Given the description of an element on the screen output the (x, y) to click on. 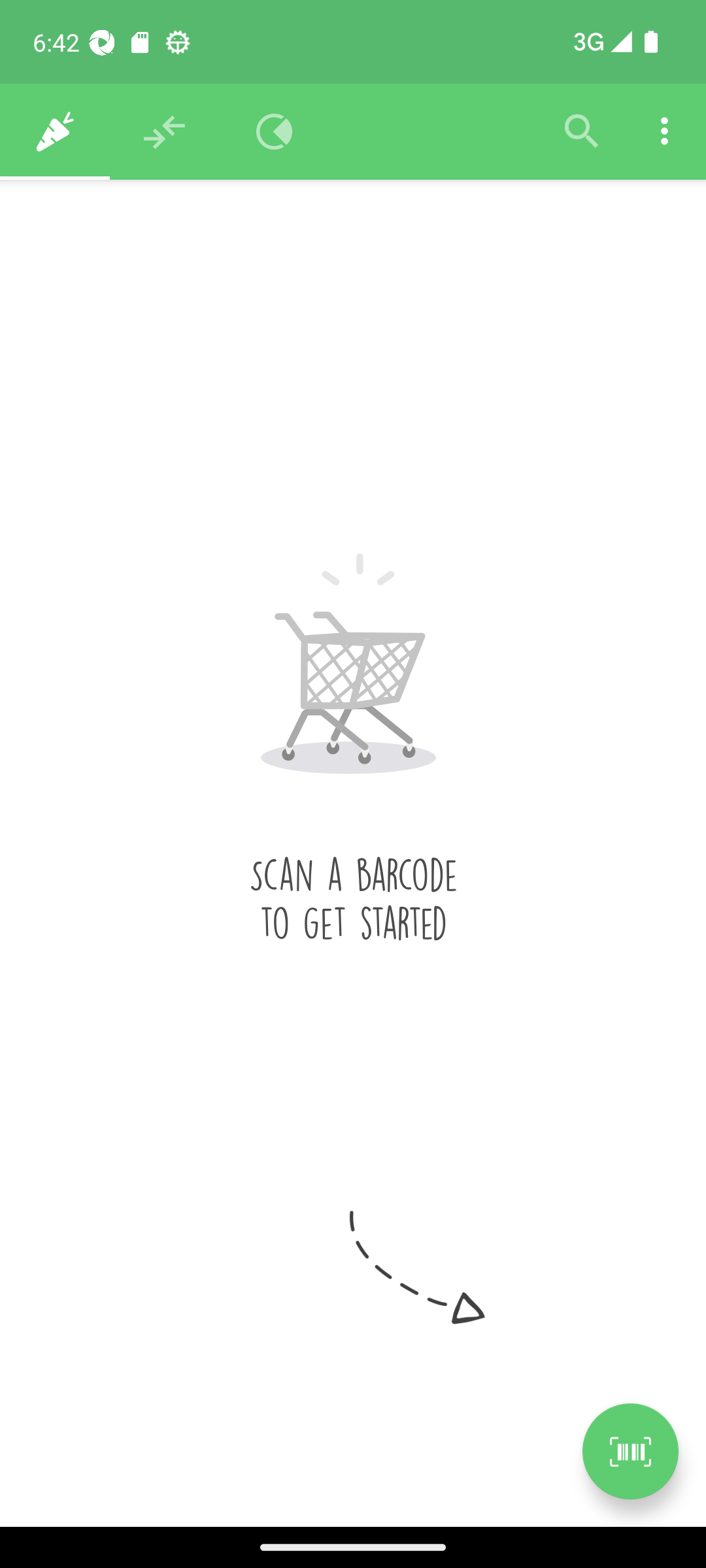
Recommendations (164, 131)
Overview (274, 131)
Filter (581, 131)
Settings (664, 131)
Scan a product (630, 1451)
